Given the description of an element on the screen output the (x, y) to click on. 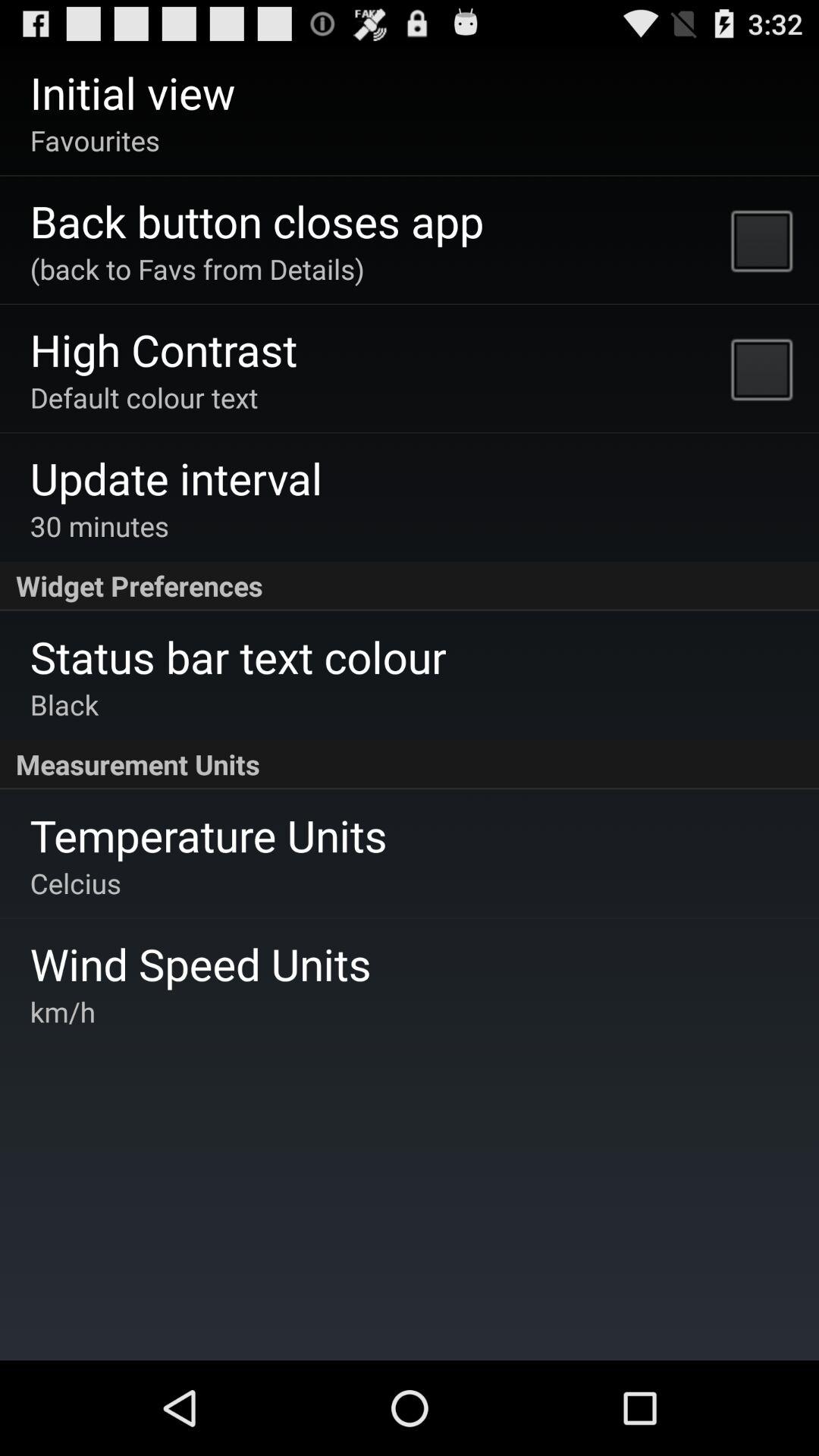
turn on the black item (64, 704)
